Given the description of an element on the screen output the (x, y) to click on. 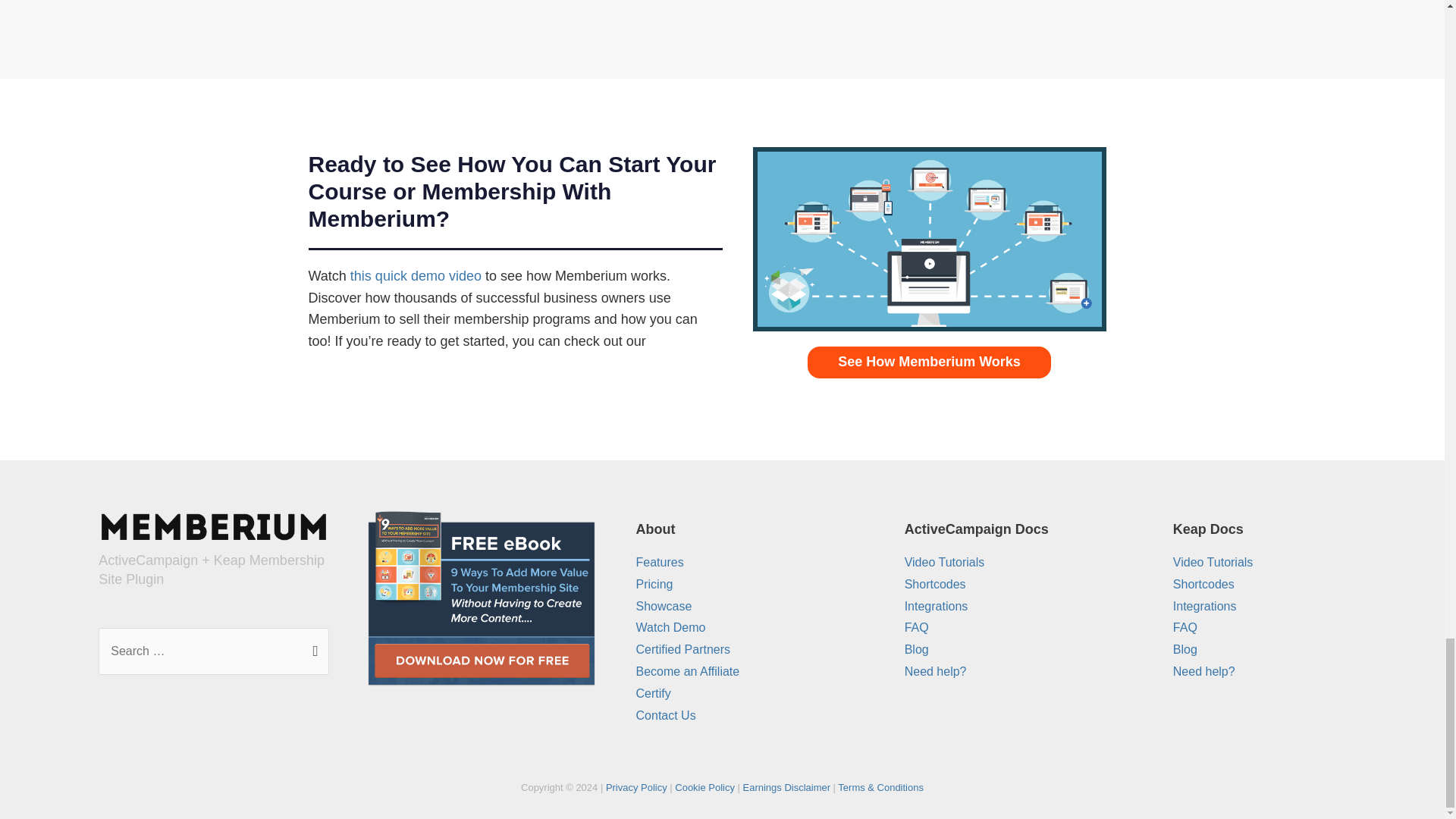
Cookie Policy  (705, 787)
Privacy Policy  (635, 787)
Search (312, 646)
Search (312, 646)
